Given the description of an element on the screen output the (x, y) to click on. 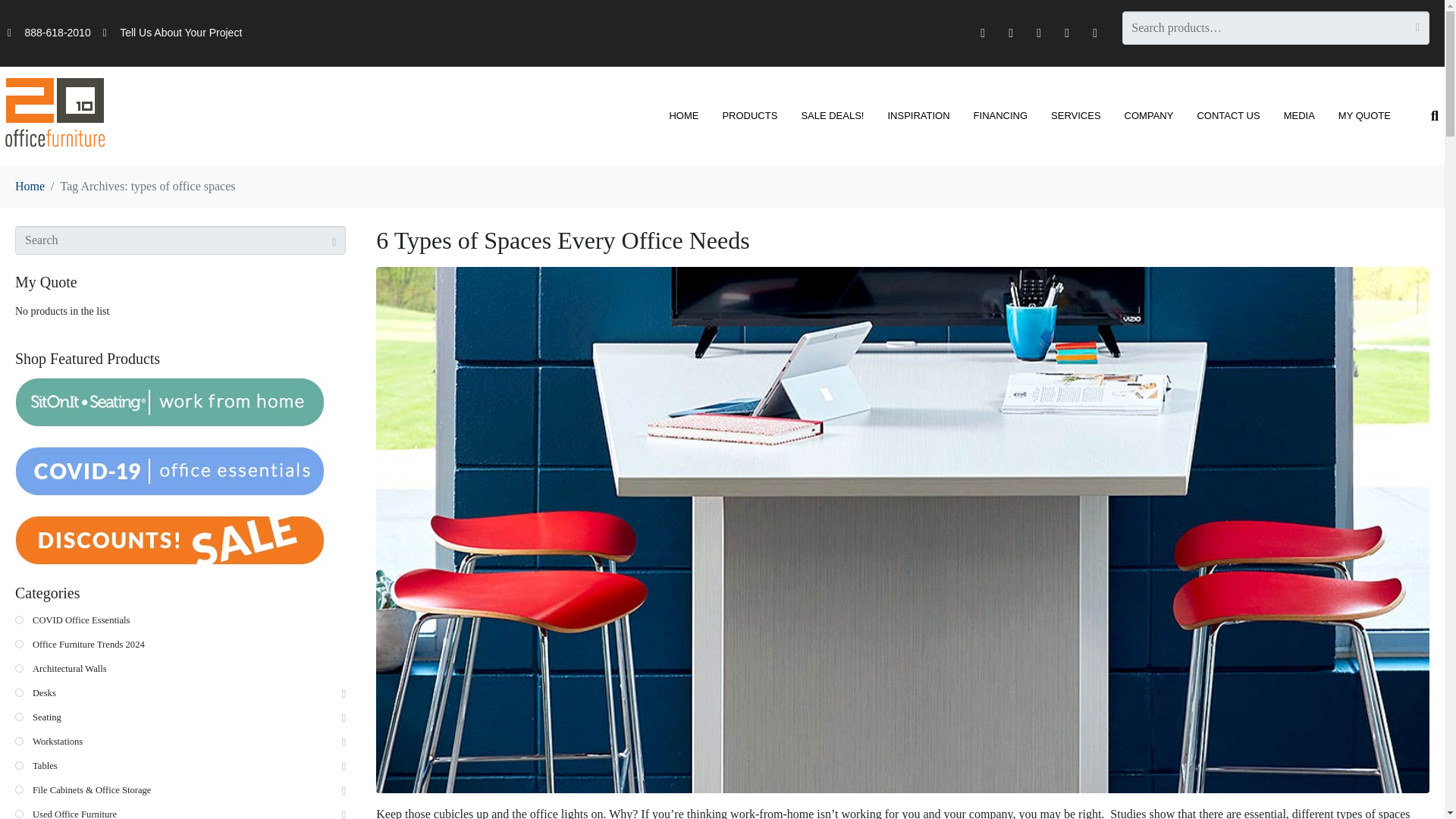
HOME (684, 115)
888-618-2010 (48, 32)
Tell Us About Your Project (173, 32)
PRODUCTS (749, 115)
6 Types of Spaces Every Office Needs (562, 239)
6 Types of Spaces Every Office Needs (902, 528)
Shop Featured Products (170, 401)
